Given the description of an element on the screen output the (x, y) to click on. 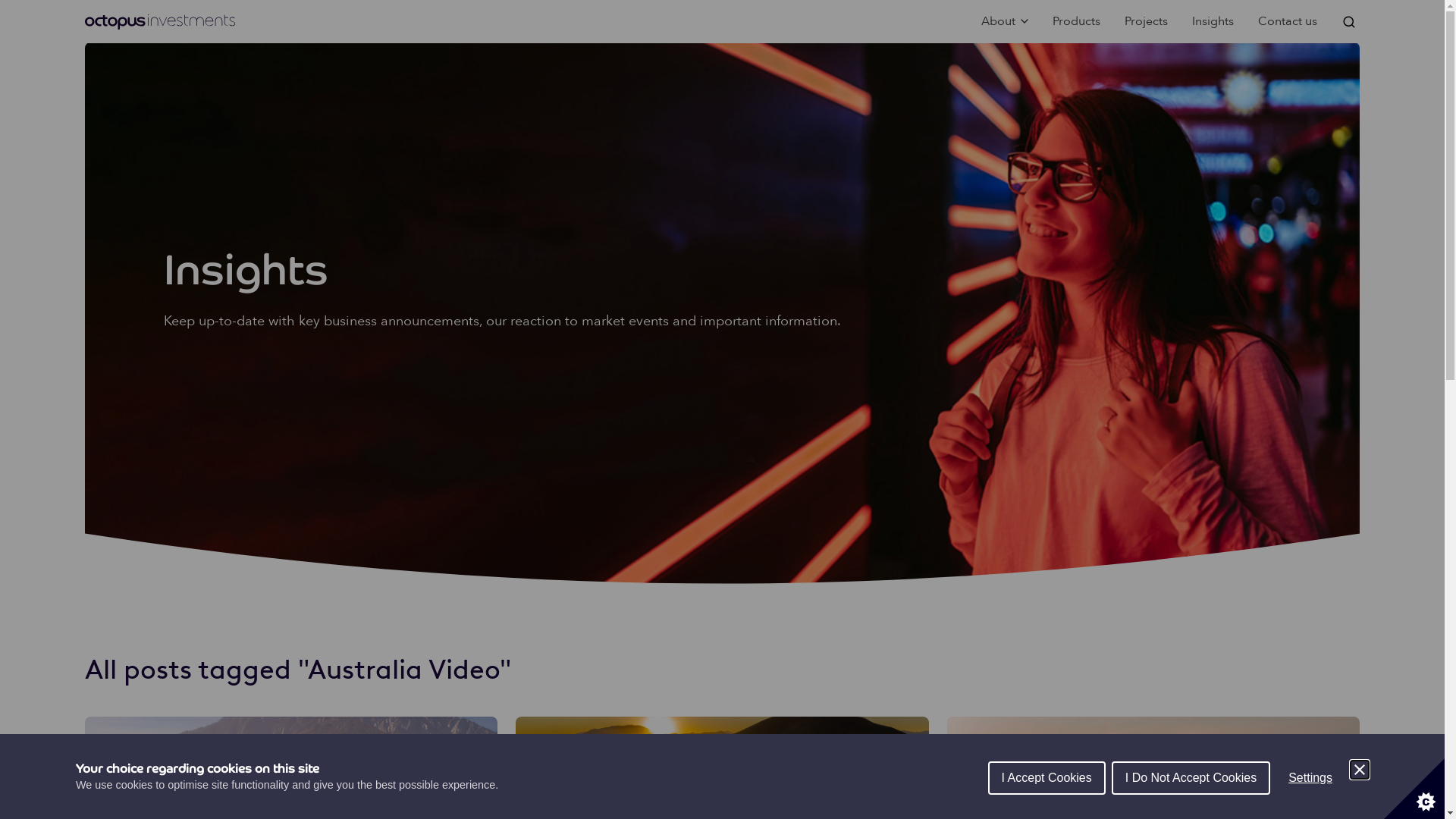
I Accept Cookies Element type: text (1046, 777)
About Element type: text (1004, 21)
Projects Element type: text (1145, 21)
I Do Not Accept Cookies Element type: text (1190, 777)
Contact us Element type: text (1287, 21)
Settings Element type: text (1310, 777)
Insights Element type: text (1212, 21)
Products Element type: text (1076, 21)
